Given the description of an element on the screen output the (x, y) to click on. 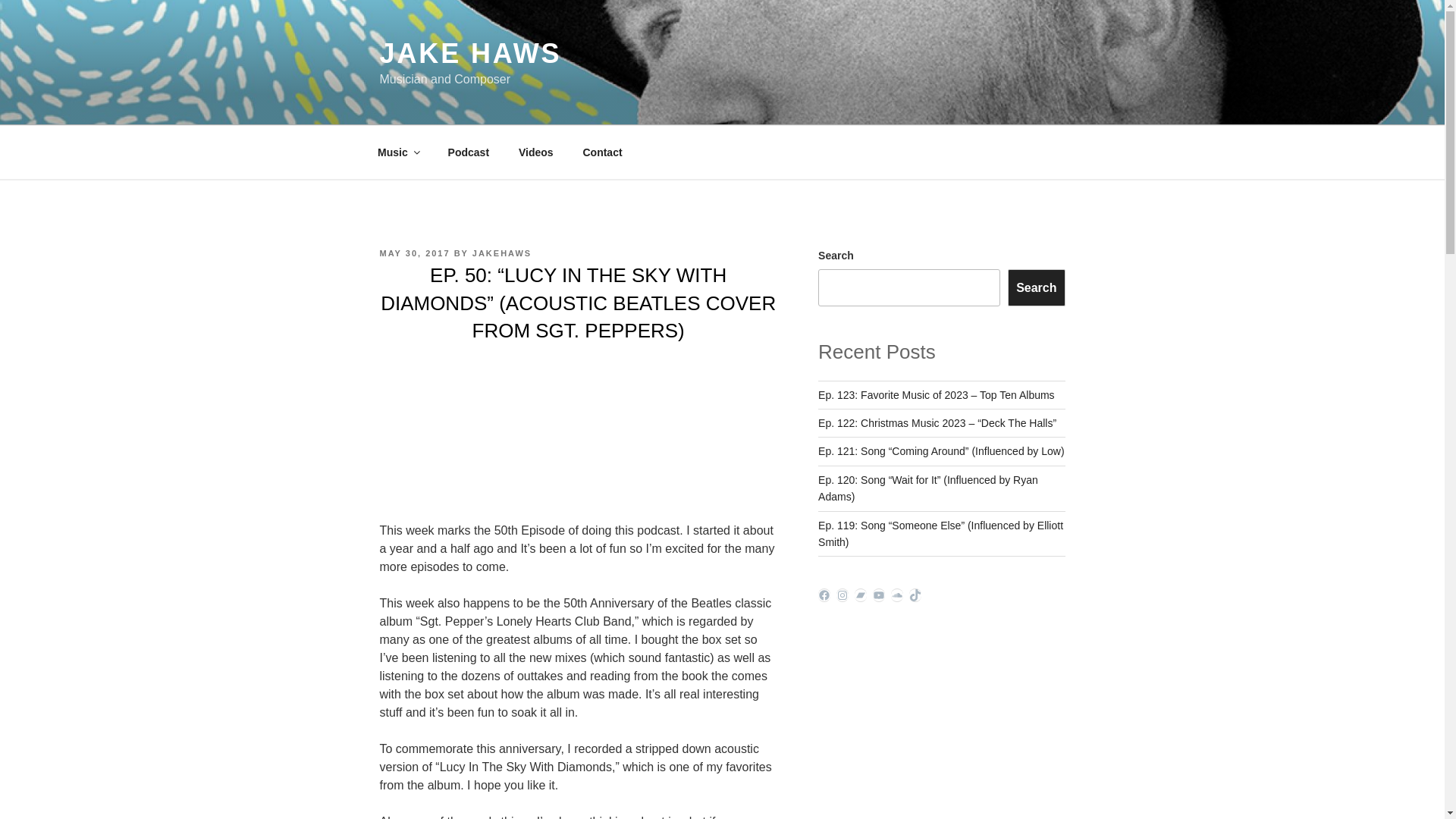
JAKE HAWS (469, 52)
JAKEHAWS (501, 252)
Contact (601, 151)
TikTok (914, 594)
Podcast (467, 151)
Bandcamp (860, 594)
Soundcloud (896, 594)
Videos (535, 151)
Search (1035, 287)
Instagram (841, 594)
YouTube (878, 594)
MAY 30, 2017 (413, 252)
Facebook (823, 594)
Music (397, 151)
